Given the description of an element on the screen output the (x, y) to click on. 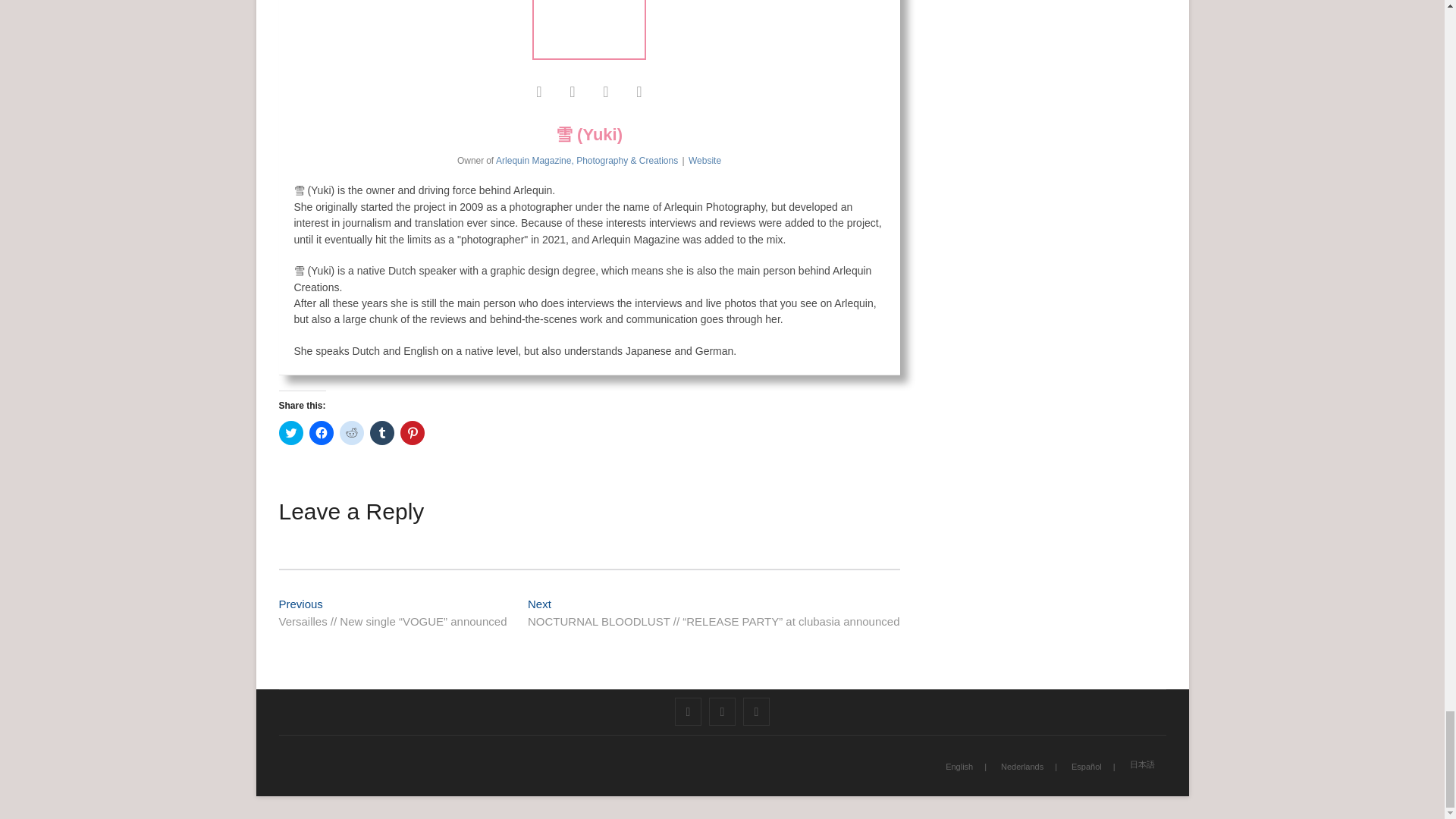
Click to share on Reddit (351, 432)
Click to share on Twitter (290, 432)
Click to share on Pinterest (412, 432)
Click to share on Facebook (320, 432)
Click to share on Tumblr (381, 432)
